Given the description of an element on the screen output the (x, y) to click on. 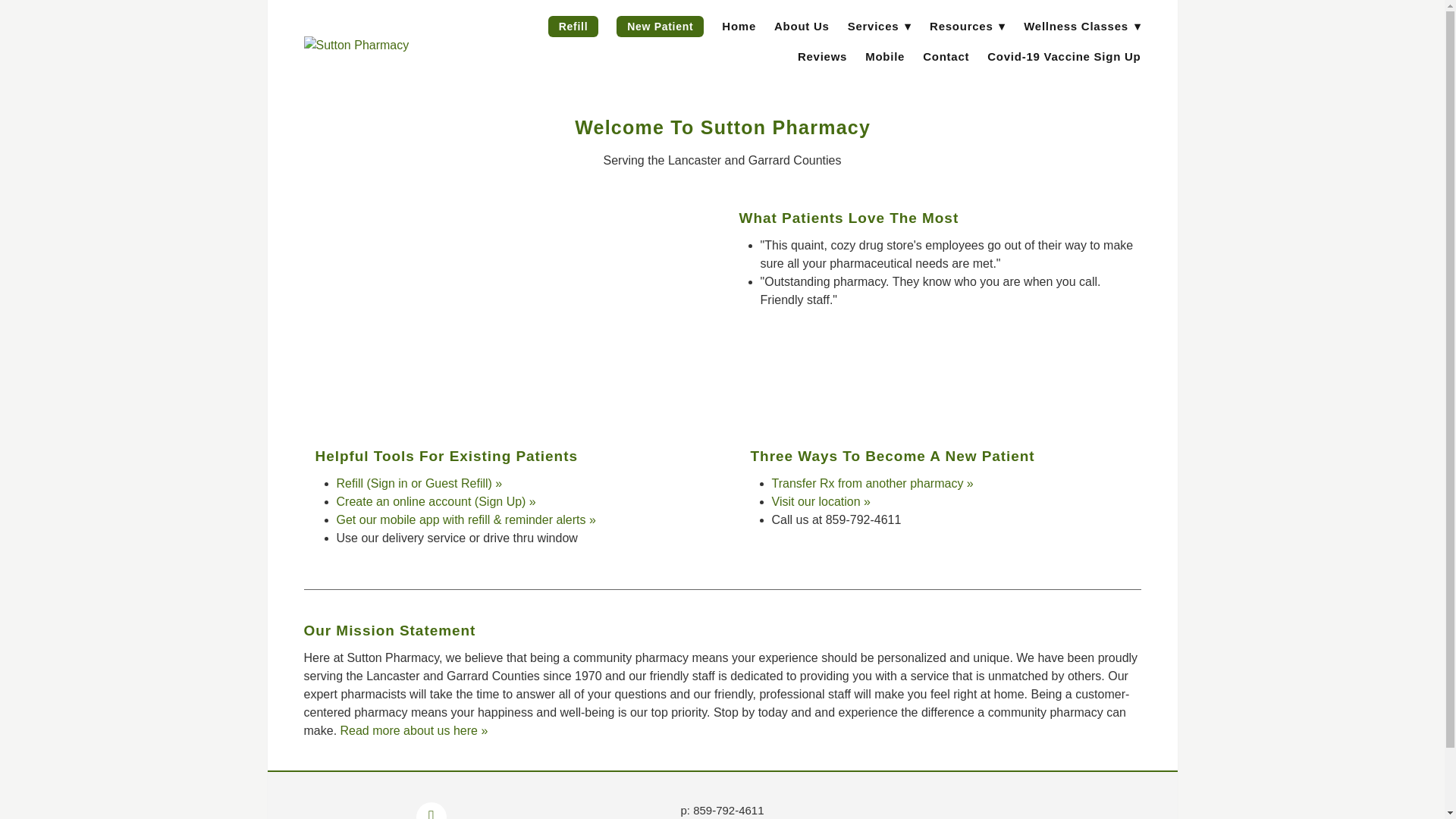
Reviews (822, 56)
About Us (801, 26)
New Patient (659, 25)
Mobile (884, 56)
Covid-19 Vaccine Sign Up (1063, 56)
Refill (573, 25)
Contact (946, 56)
Home (738, 26)
Sutton Pharmacy (380, 45)
